Given the description of an element on the screen output the (x, y) to click on. 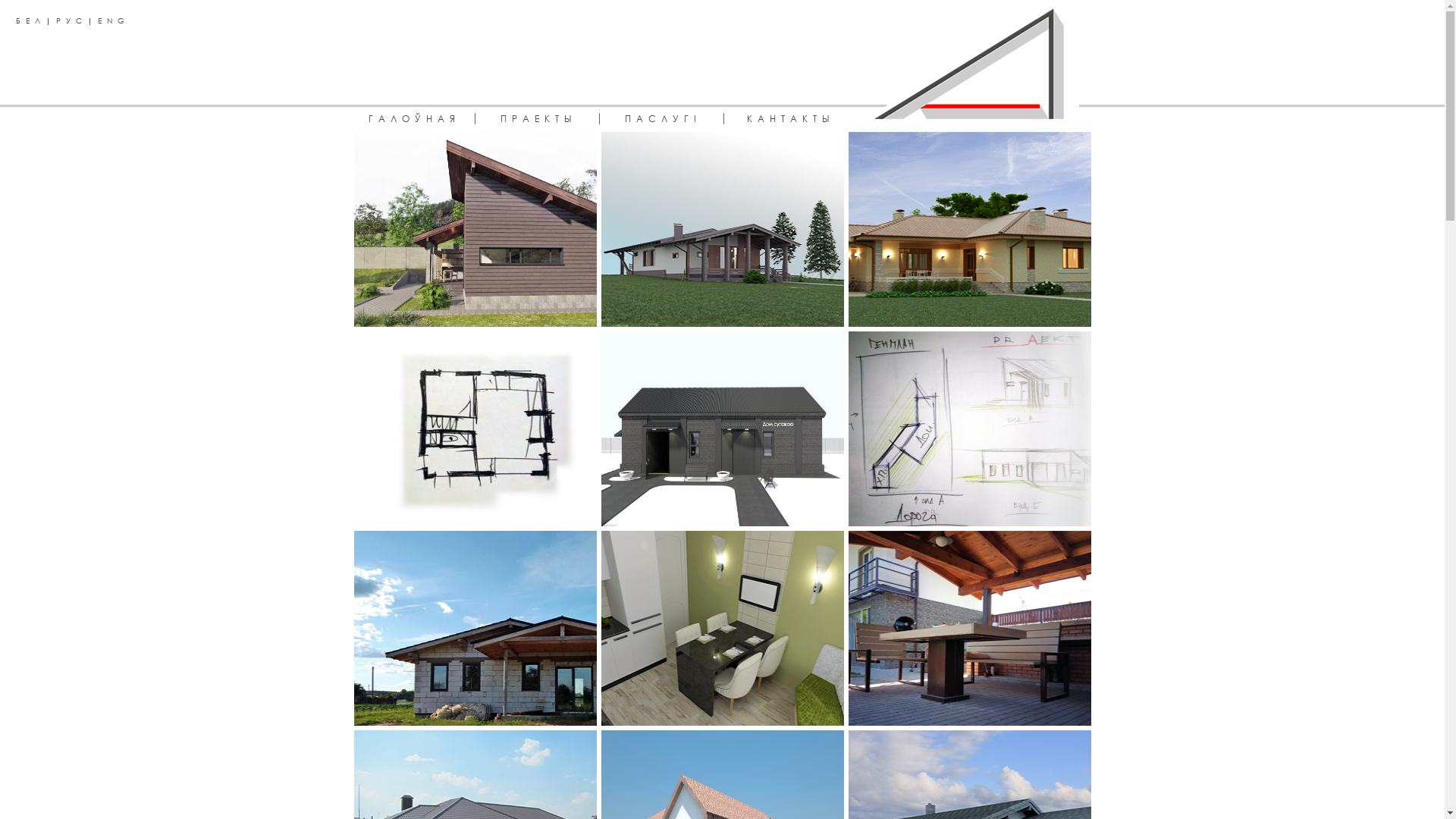
ENG Element type: text (113, 20)
